Given the description of an element on the screen output the (x, y) to click on. 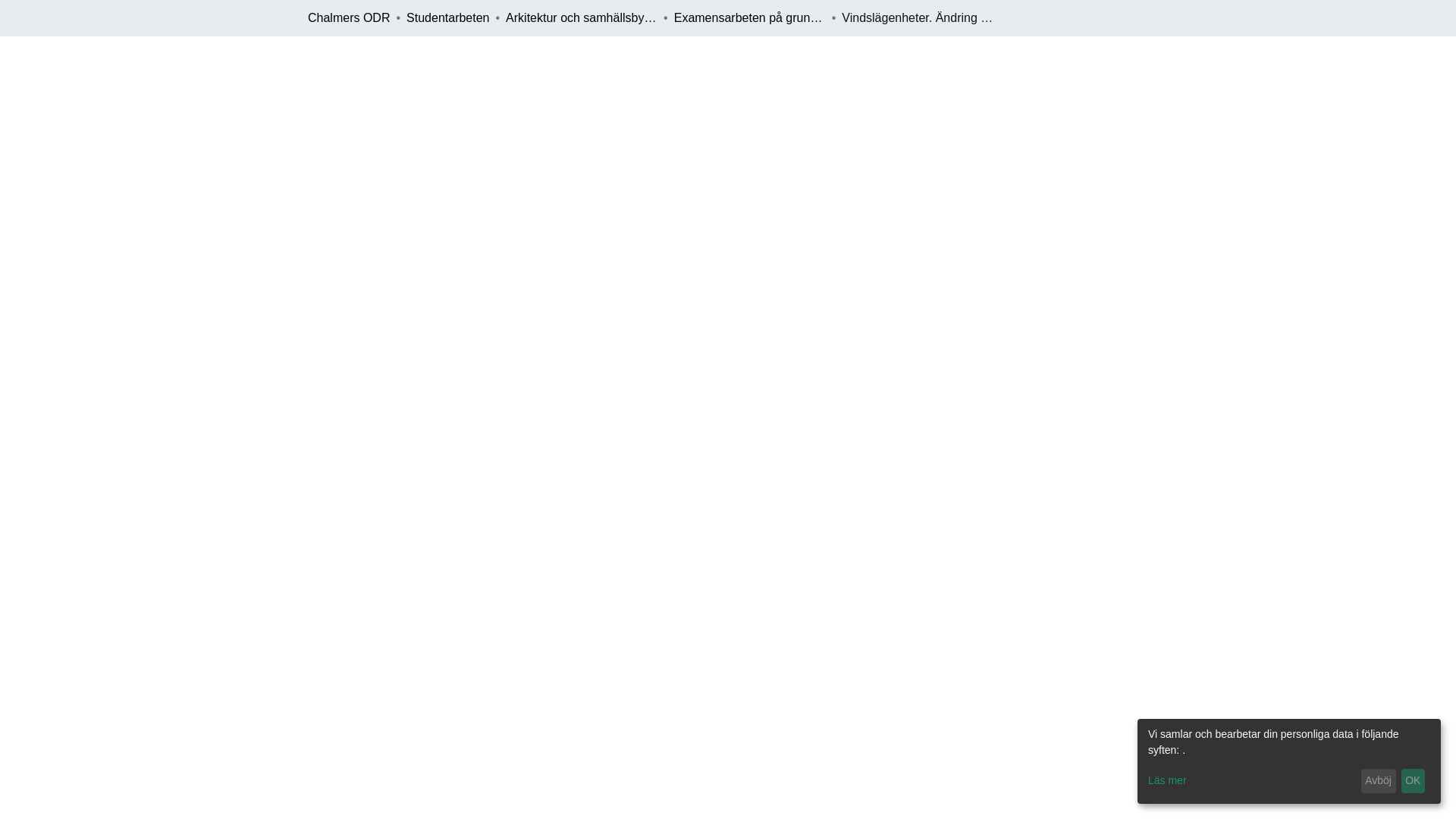
OK (1412, 781)
Studentarbeten (447, 18)
Chalmers ODR (348, 18)
